Given the description of an element on the screen output the (x, y) to click on. 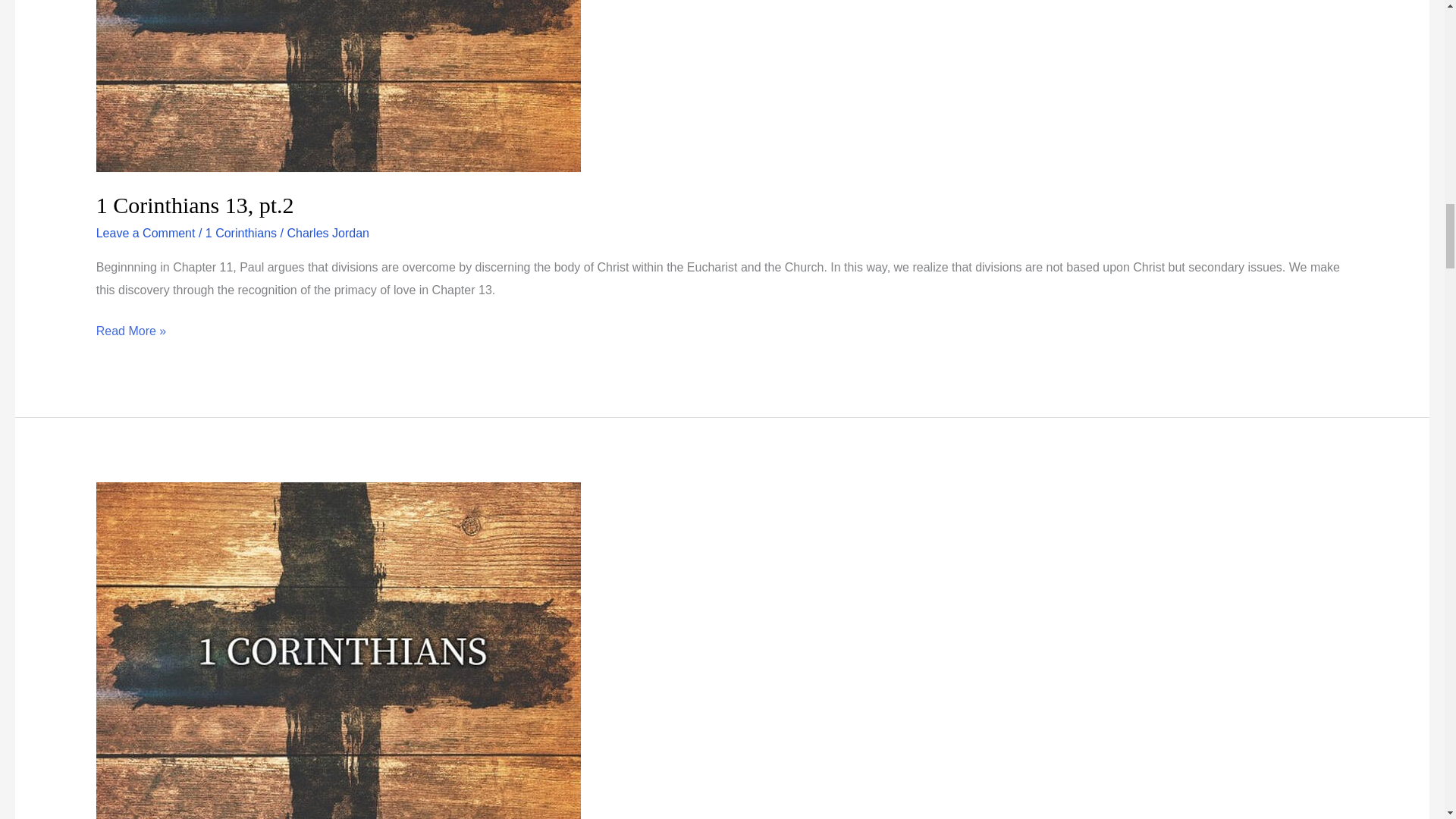
View all posts by Charles Jordan (327, 232)
